Given the description of an element on the screen output the (x, y) to click on. 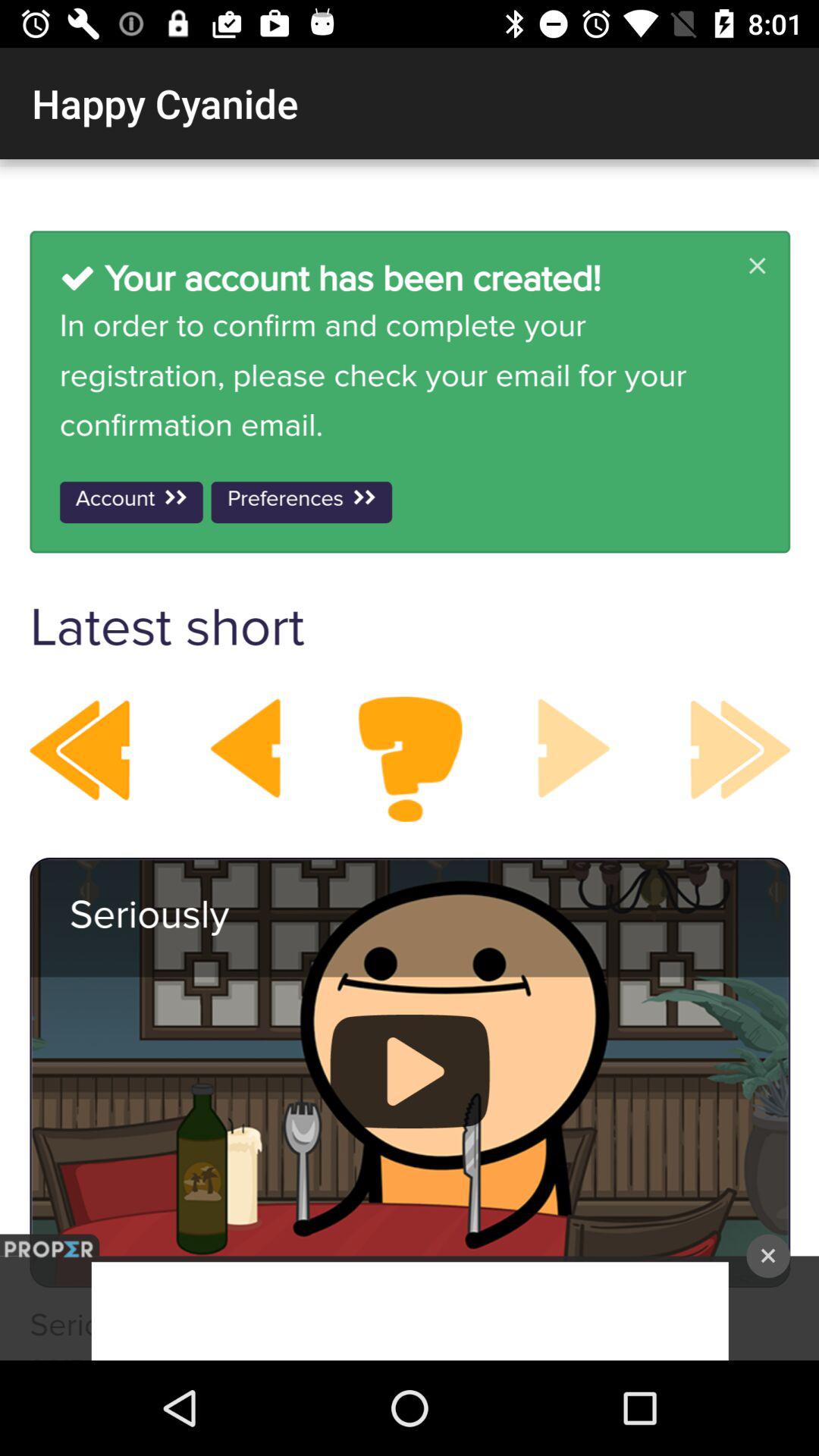
all view (409, 759)
